Given the description of an element on the screen output the (x, y) to click on. 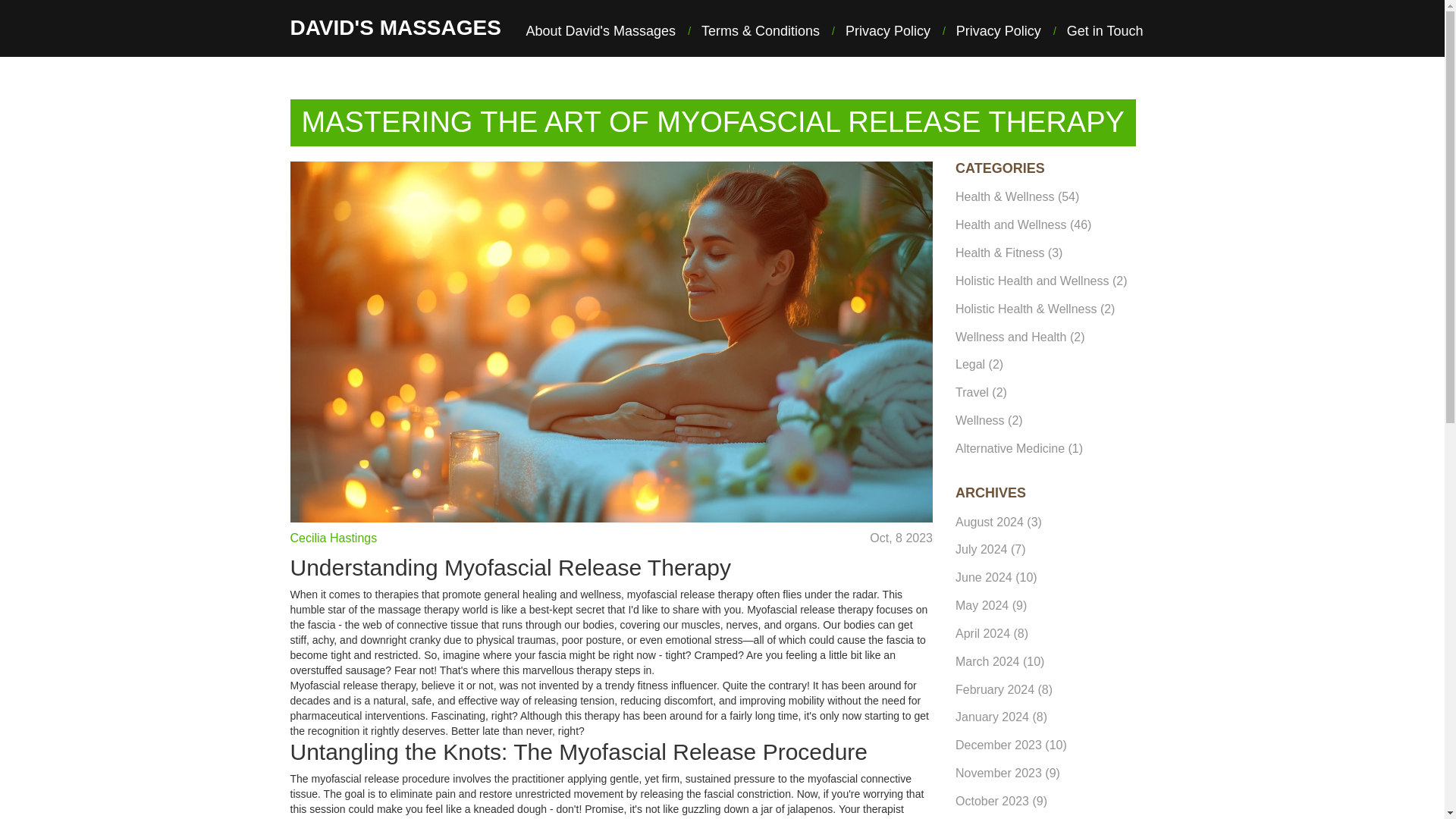
Get in Touch (1104, 31)
About David's Massages (601, 31)
Privacy Policy (998, 31)
DAVID'S MASSAGES (394, 27)
Cecilia Hastings (333, 538)
Privacy Policy (887, 31)
